Given the description of an element on the screen output the (x, y) to click on. 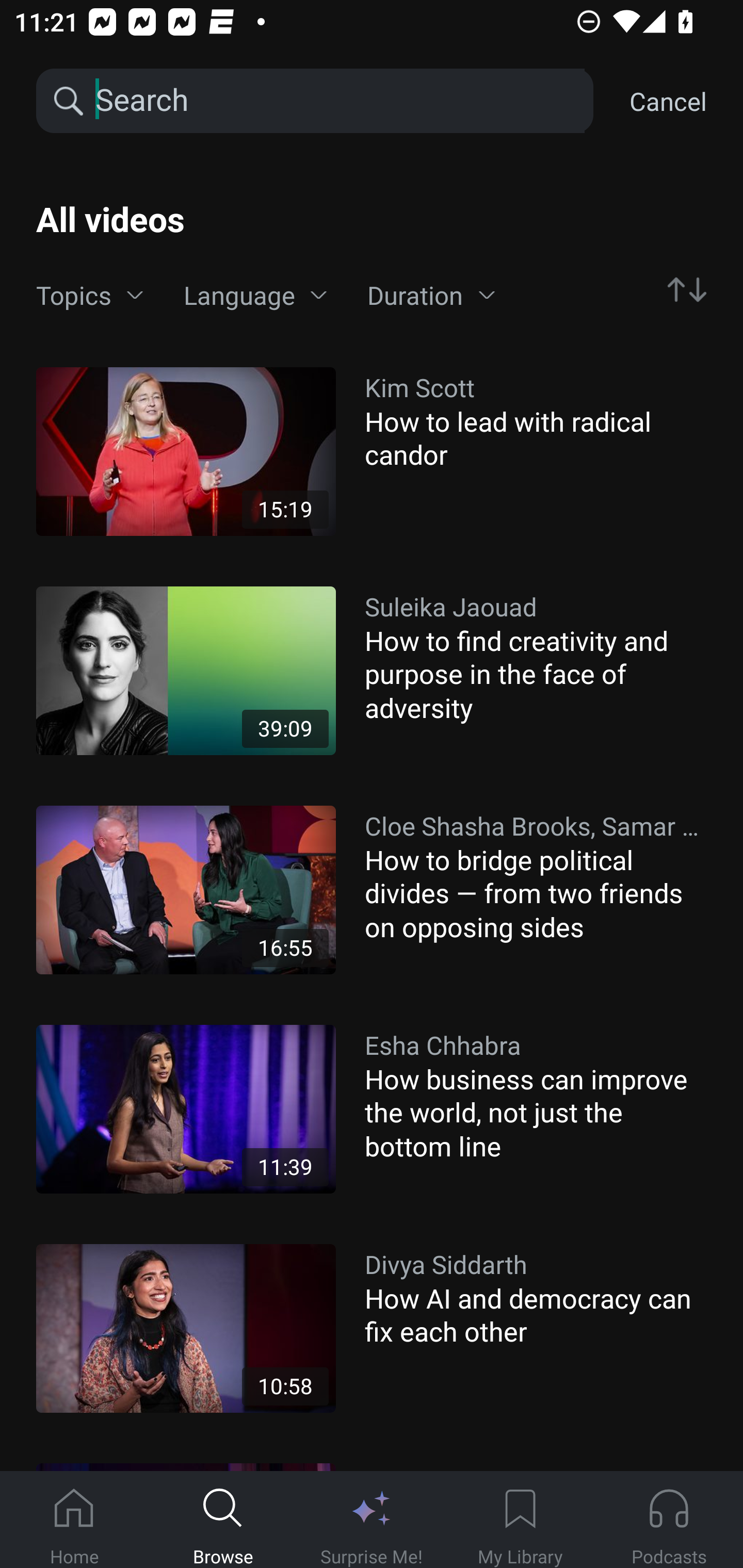
Search (338, 100)
Cancel (667, 100)
Topics (90, 295)
Language (255, 295)
Duration (431, 295)
15:19 Kim Scott How to lead with radical candor (371, 451)
Home (74, 1520)
Browse (222, 1520)
Surprise Me! (371, 1520)
My Library (519, 1520)
Podcasts (668, 1520)
